Given the description of an element on the screen output the (x, y) to click on. 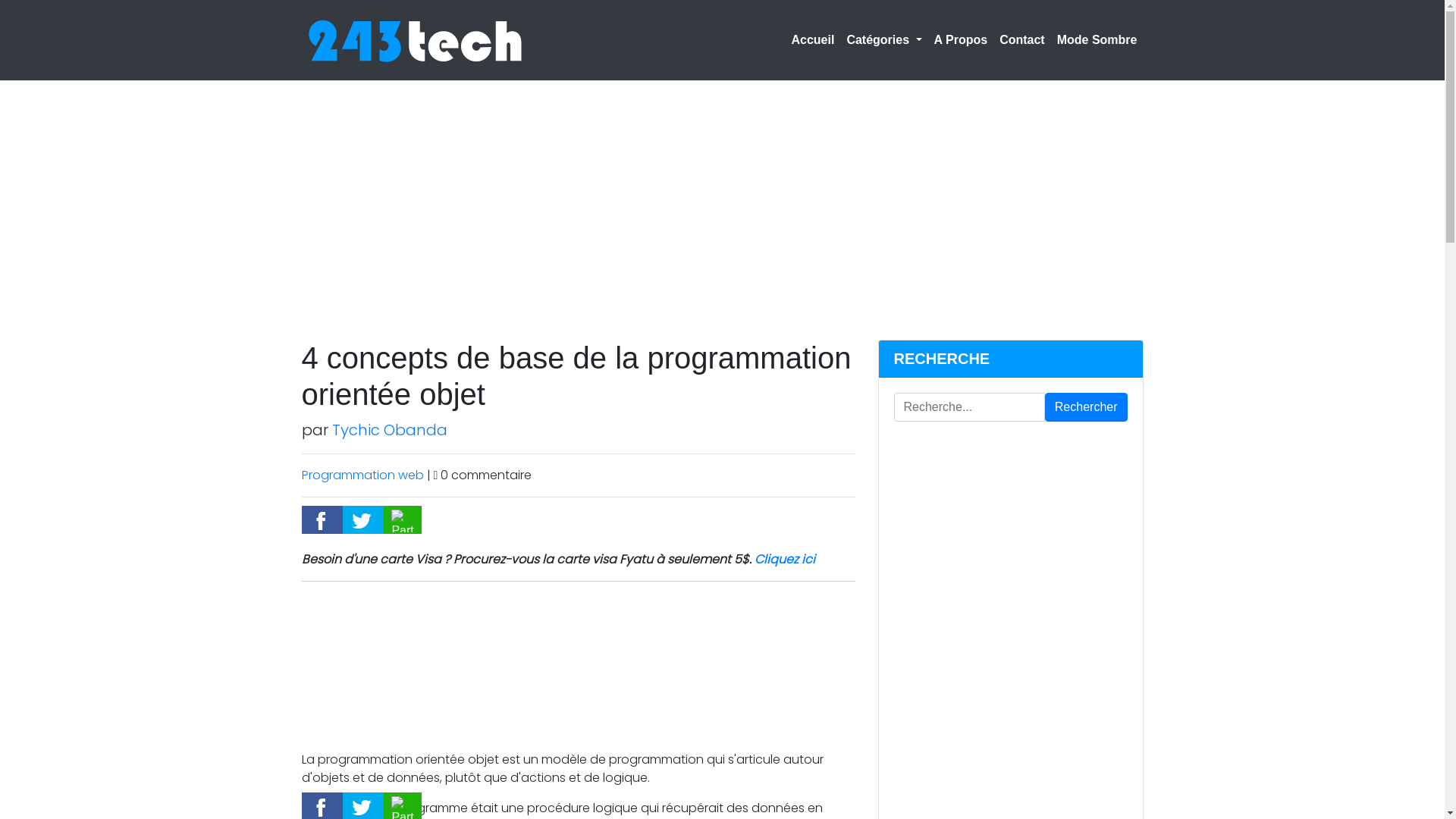
Rechercher Element type: text (1085, 406)
Twitter Element type: hover (362, 519)
Cliquez ici Element type: text (783, 558)
Facebook Element type: hover (321, 519)
Mode Sombre Element type: text (1097, 40)
Accueil Element type: text (812, 40)
A Propos Element type: text (961, 40)
Contact Element type: text (1022, 40)
Advertisement Element type: hover (578, 668)
Whatsapp Element type: hover (402, 519)
Advertisement Element type: hover (455, 184)
Tychic Obanda Element type: text (389, 429)
Programmation web Element type: text (362, 474)
